Given the description of an element on the screen output the (x, y) to click on. 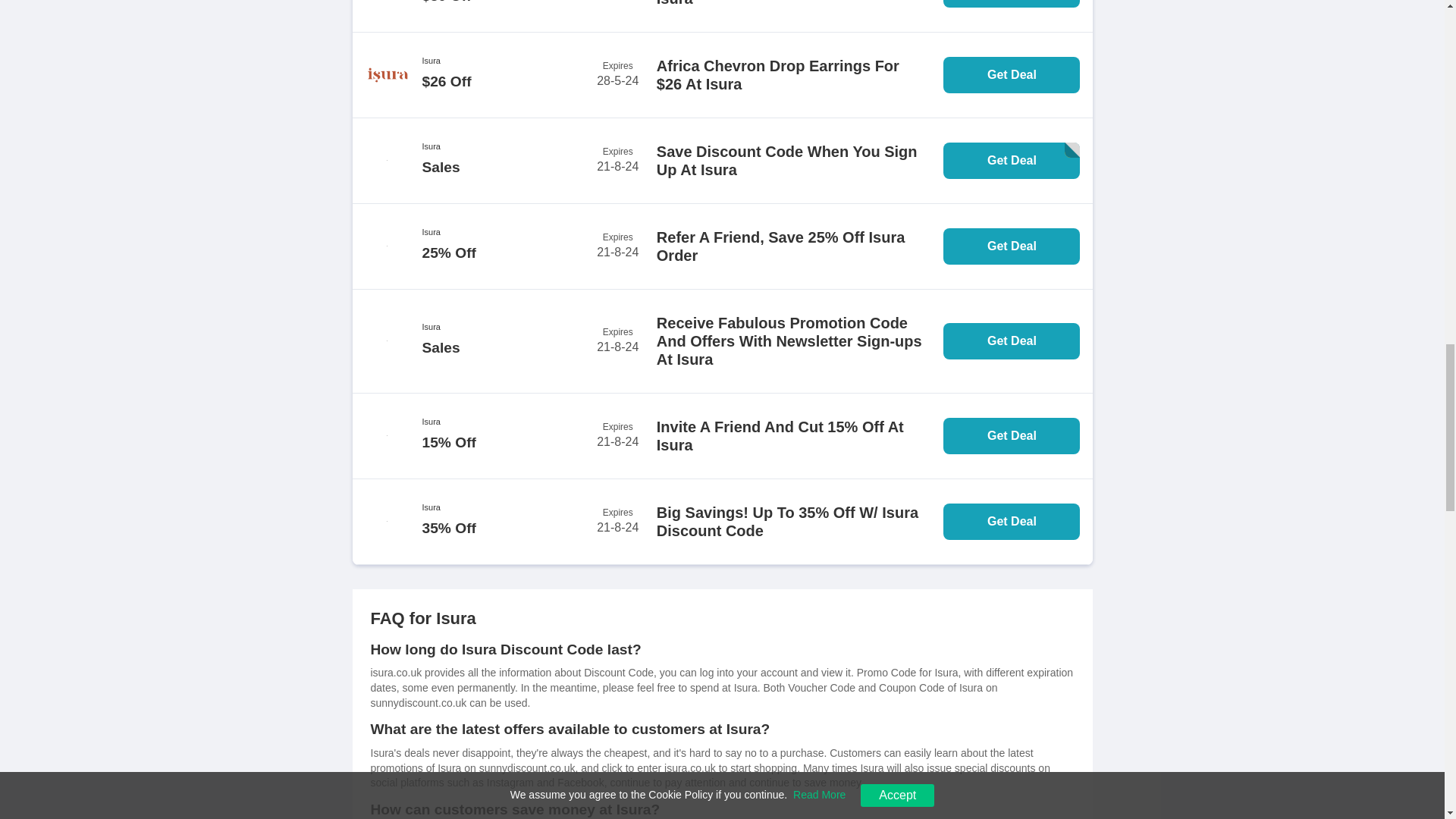
Get Deal (1011, 246)
Save Discount Code When You Sign Up At Isura (799, 160)
Get Deal (1011, 160)
Get Deal (1011, 435)
Get Deal (1011, 74)
Get Deal (1011, 3)
Get Deal (1011, 340)
